Given the description of an element on the screen output the (x, y) to click on. 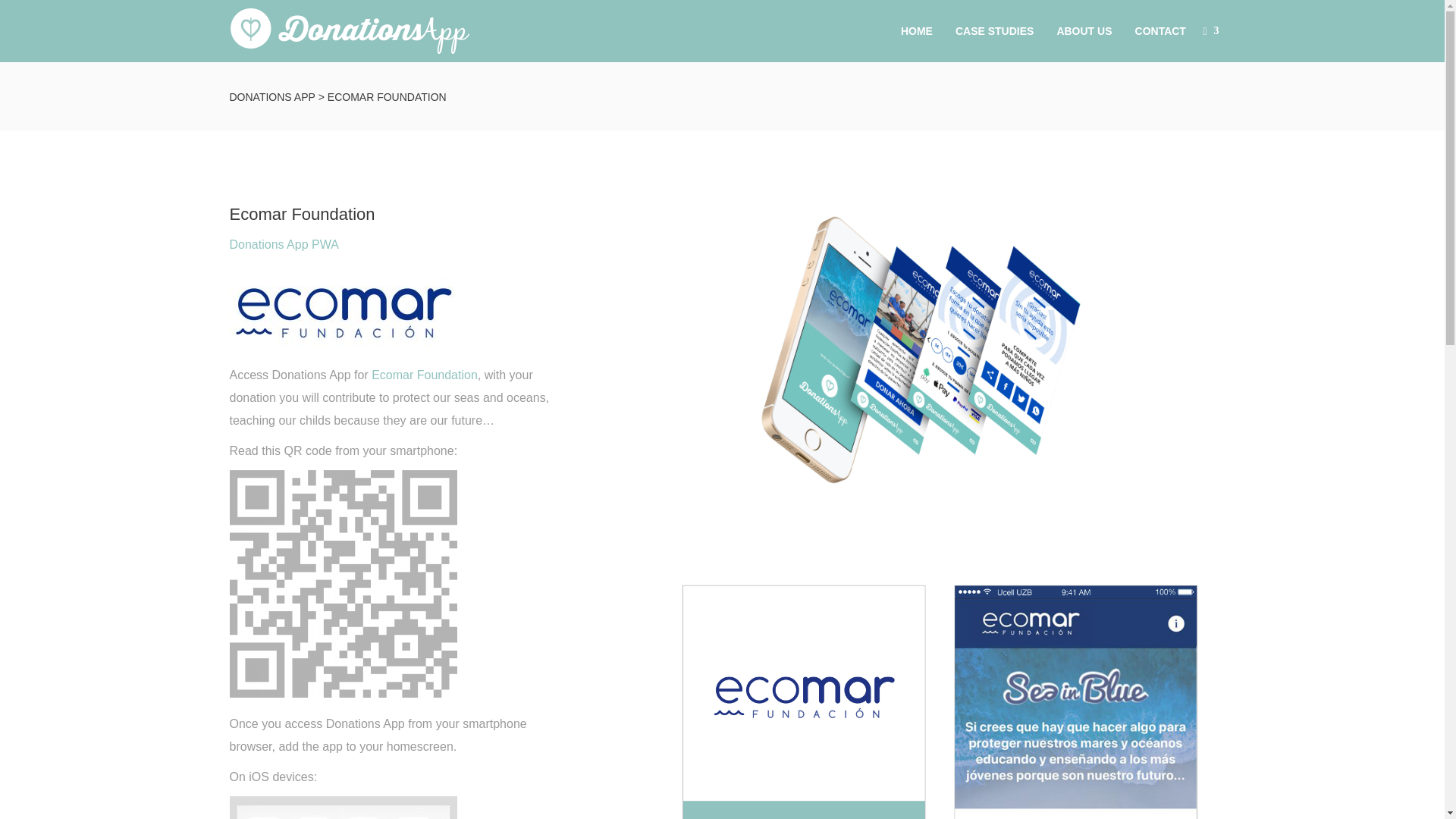
CASE STUDIES (994, 31)
DONATIONS APP (271, 97)
CONTACT (1160, 31)
ABOUT US (1083, 31)
